Given the description of an element on the screen output the (x, y) to click on. 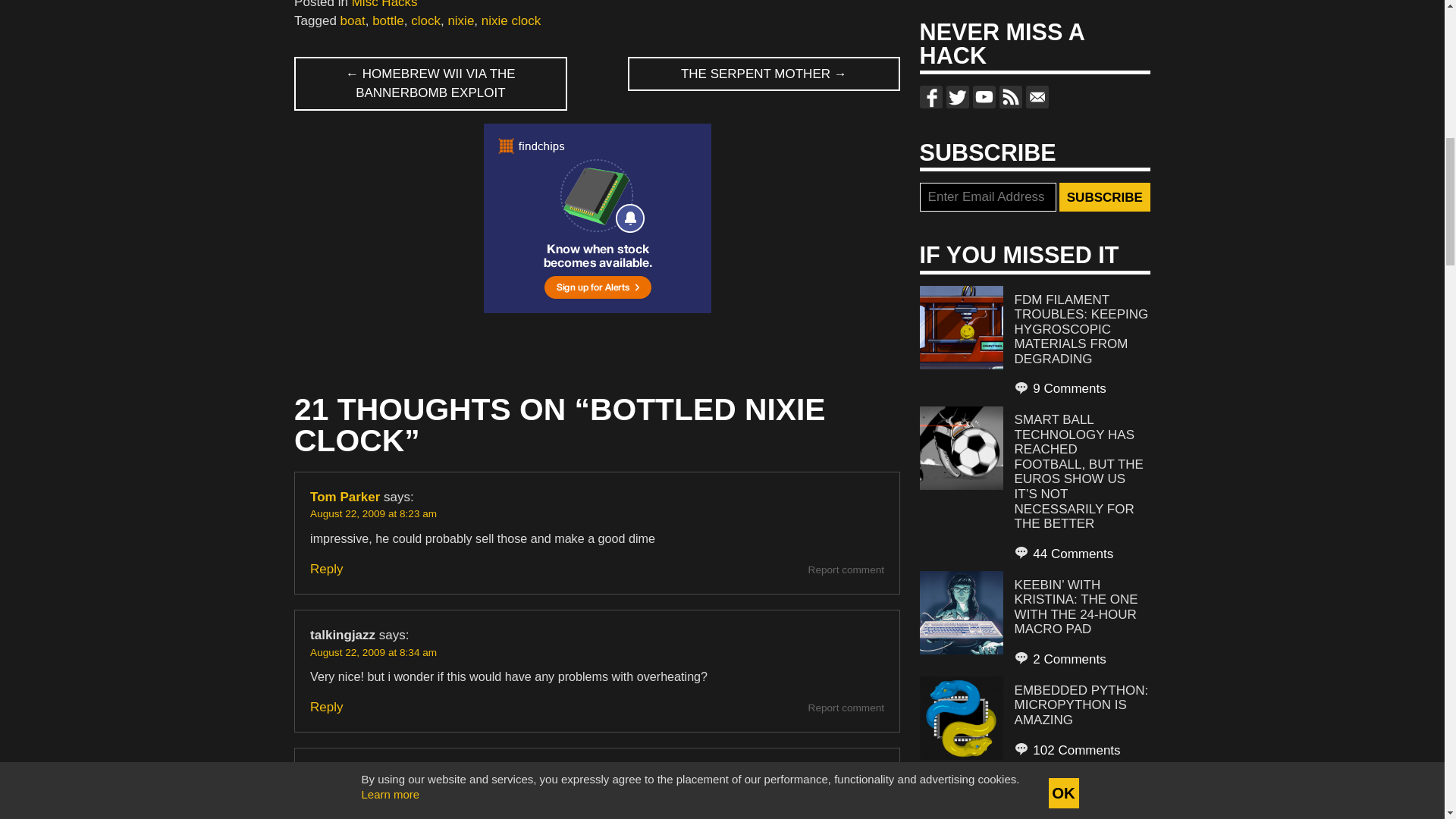
clock (425, 20)
Misc Hacks (384, 4)
boat (352, 20)
bottle (388, 20)
nixie clock (510, 20)
nixie (460, 20)
Subscribe (1104, 196)
